Given the description of an element on the screen output the (x, y) to click on. 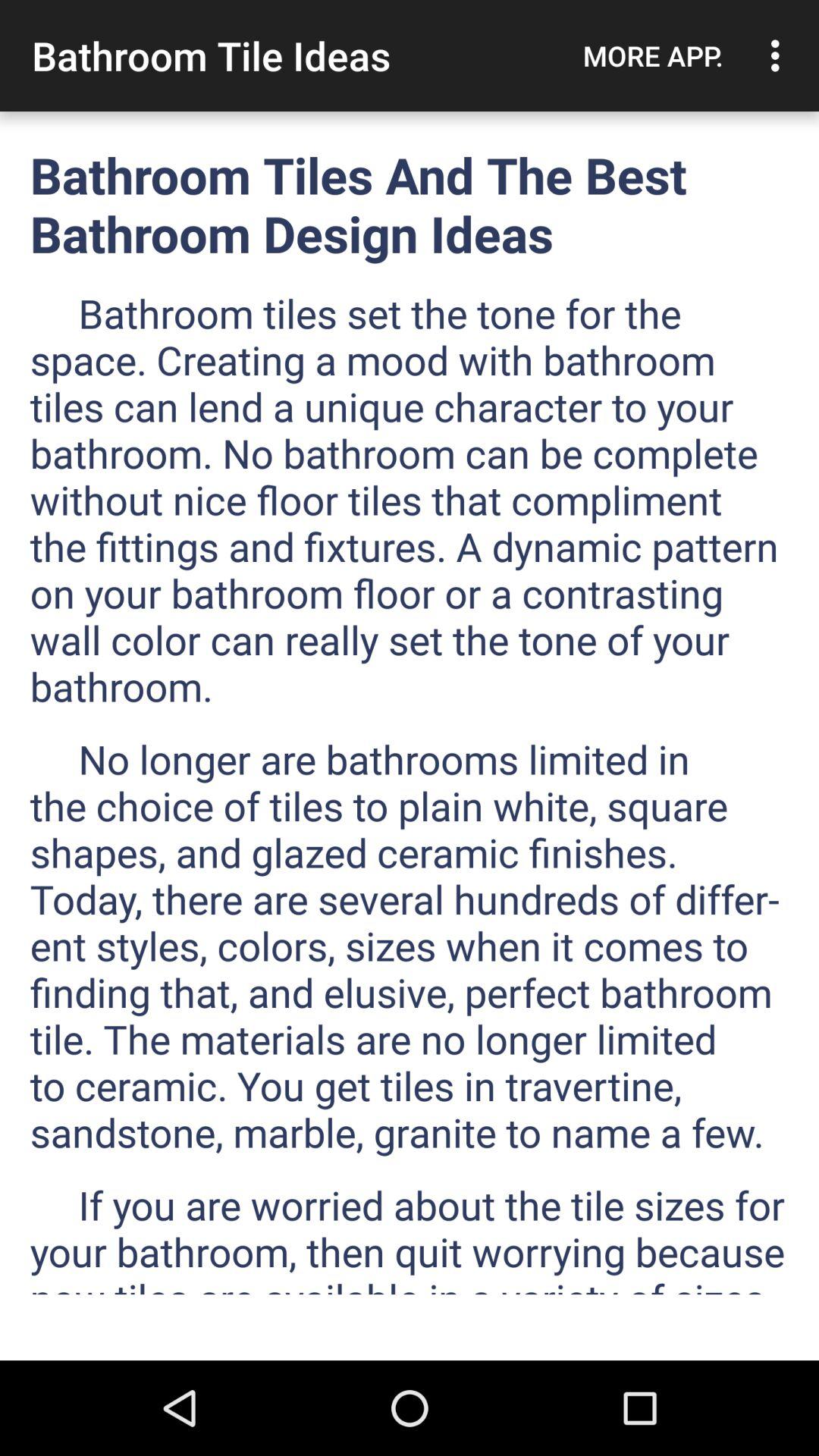
tap item to the right of the more app. icon (779, 55)
